Given the description of an element on the screen output the (x, y) to click on. 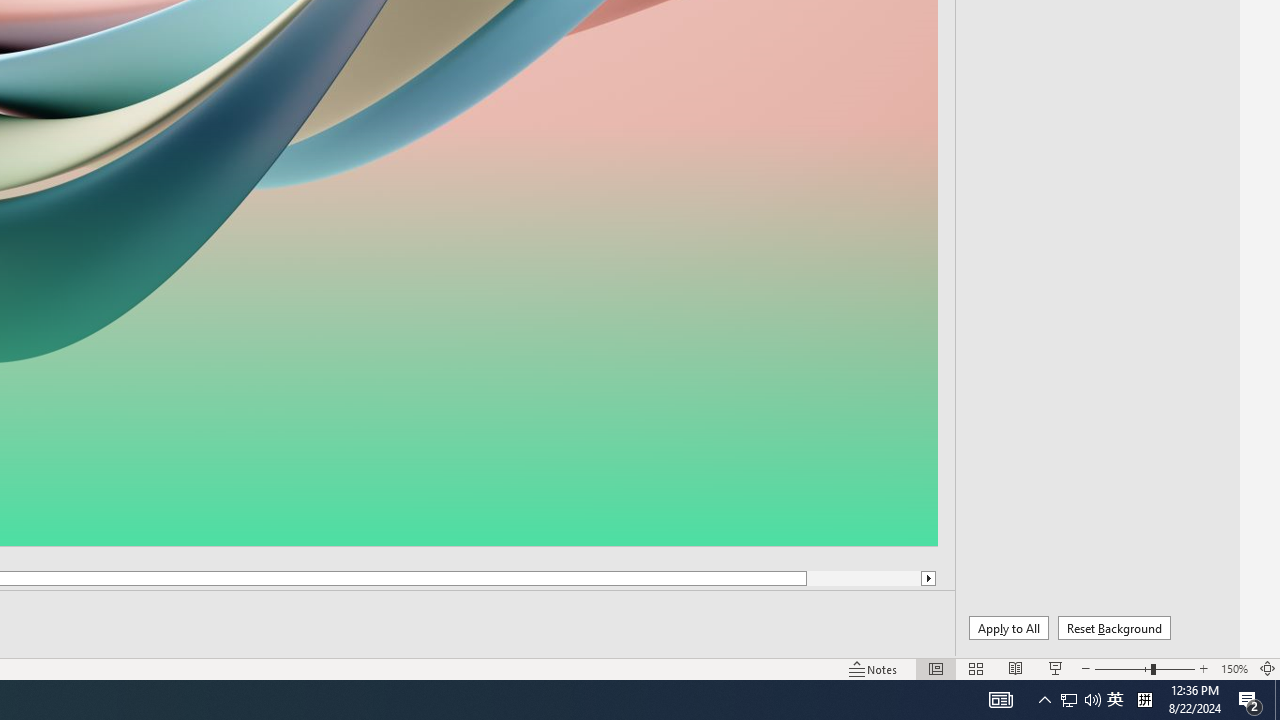
Apply to All (1008, 628)
Zoom 150% (1234, 668)
Reset Background (1114, 628)
